Given the description of an element on the screen output the (x, y) to click on. 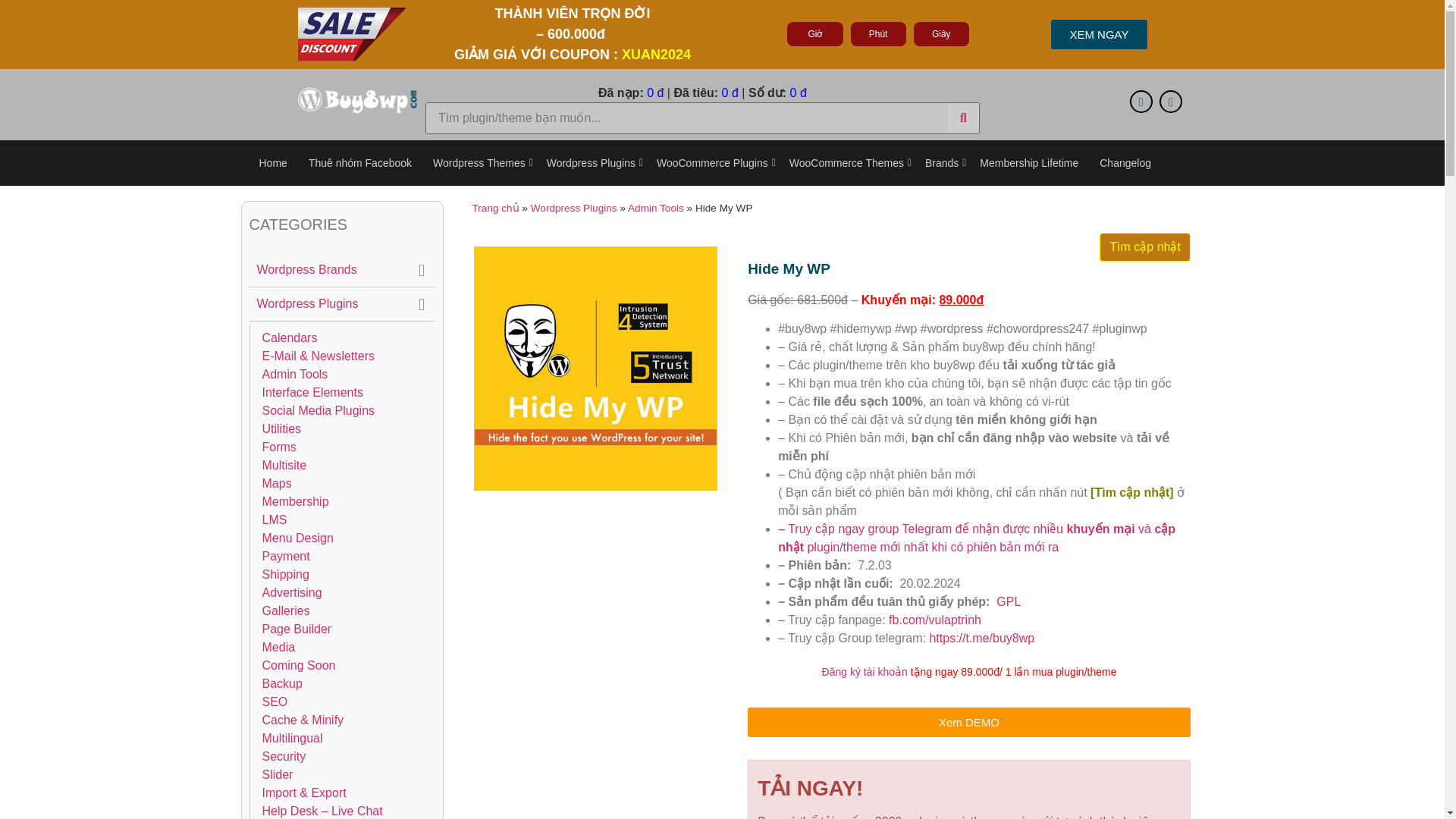
Wordpress Plugins (590, 163)
Wordpress Themes (478, 163)
Home (273, 163)
XEM NGAY (1099, 34)
Wordpress Themes (478, 163)
